Given the description of an element on the screen output the (x, y) to click on. 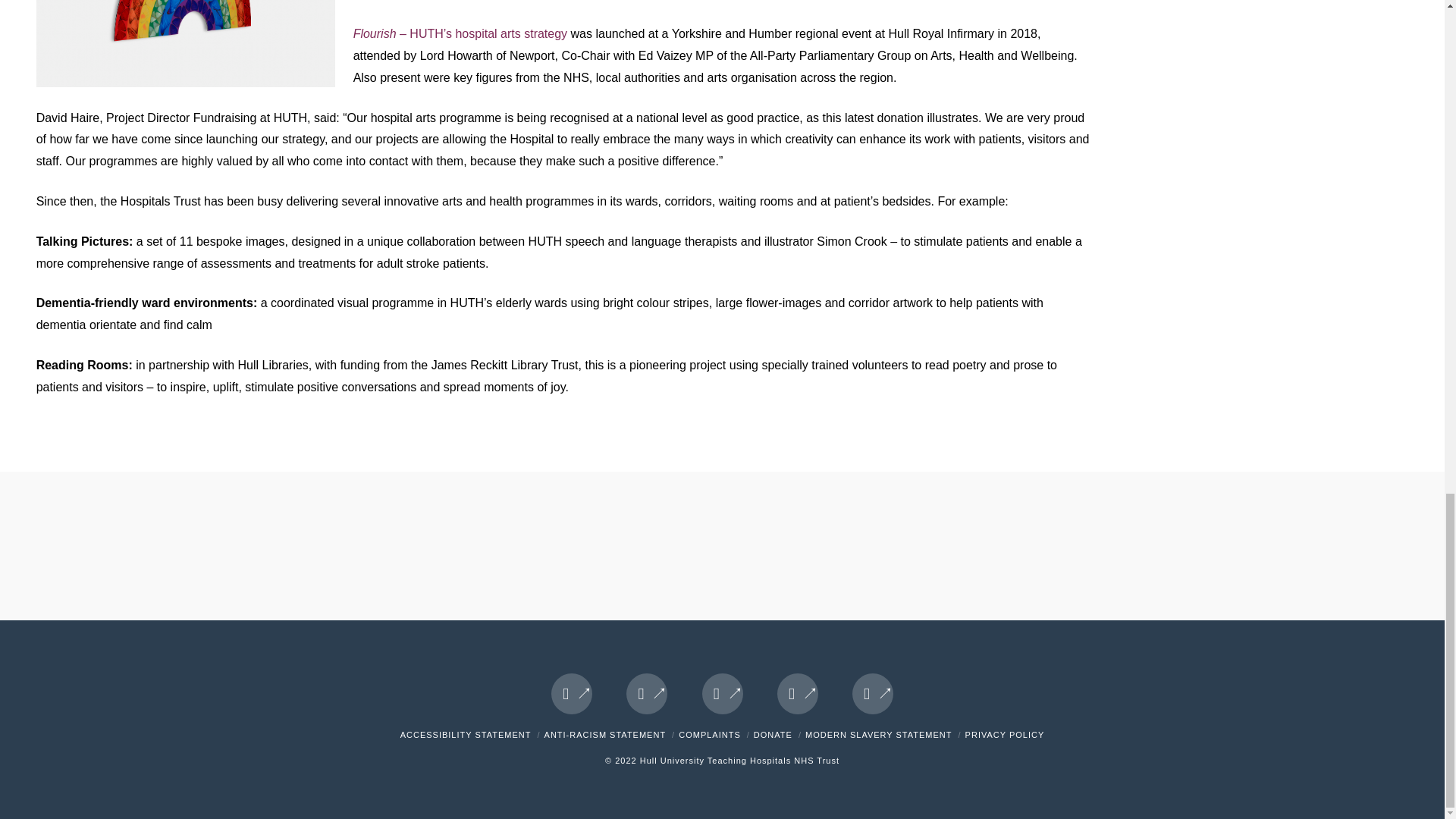
Facebook (571, 693)
YouTube (797, 693)
LinkedIn (721, 693)
Instagram (872, 693)
